Given the description of an element on the screen output the (x, y) to click on. 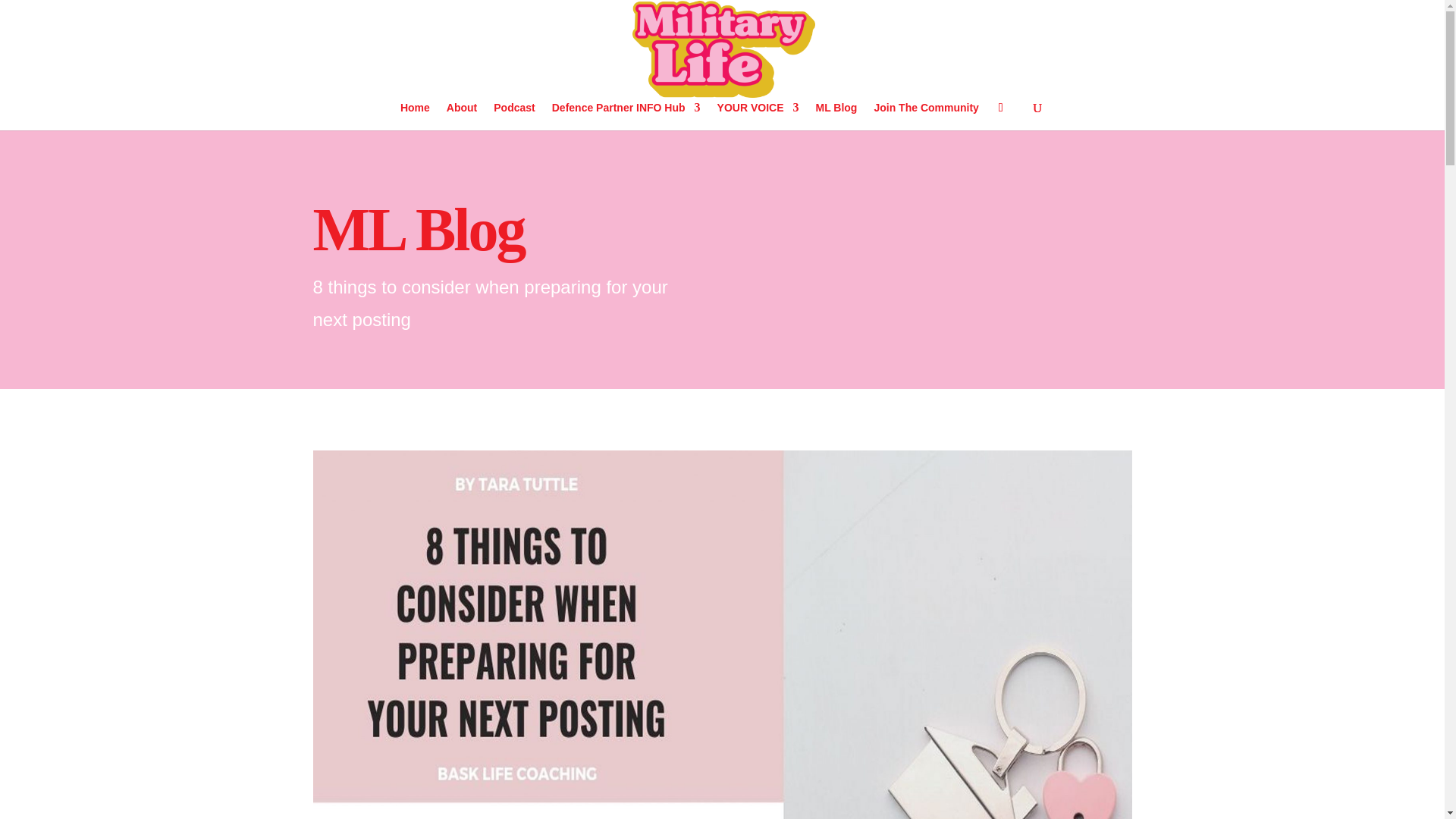
ML Blog (836, 116)
YOUR VOICE (758, 116)
Home (414, 116)
About (461, 116)
Defence Partner INFO Hub (625, 116)
Podcast (513, 116)
Join The Community (925, 116)
